Given the description of an element on the screen output the (x, y) to click on. 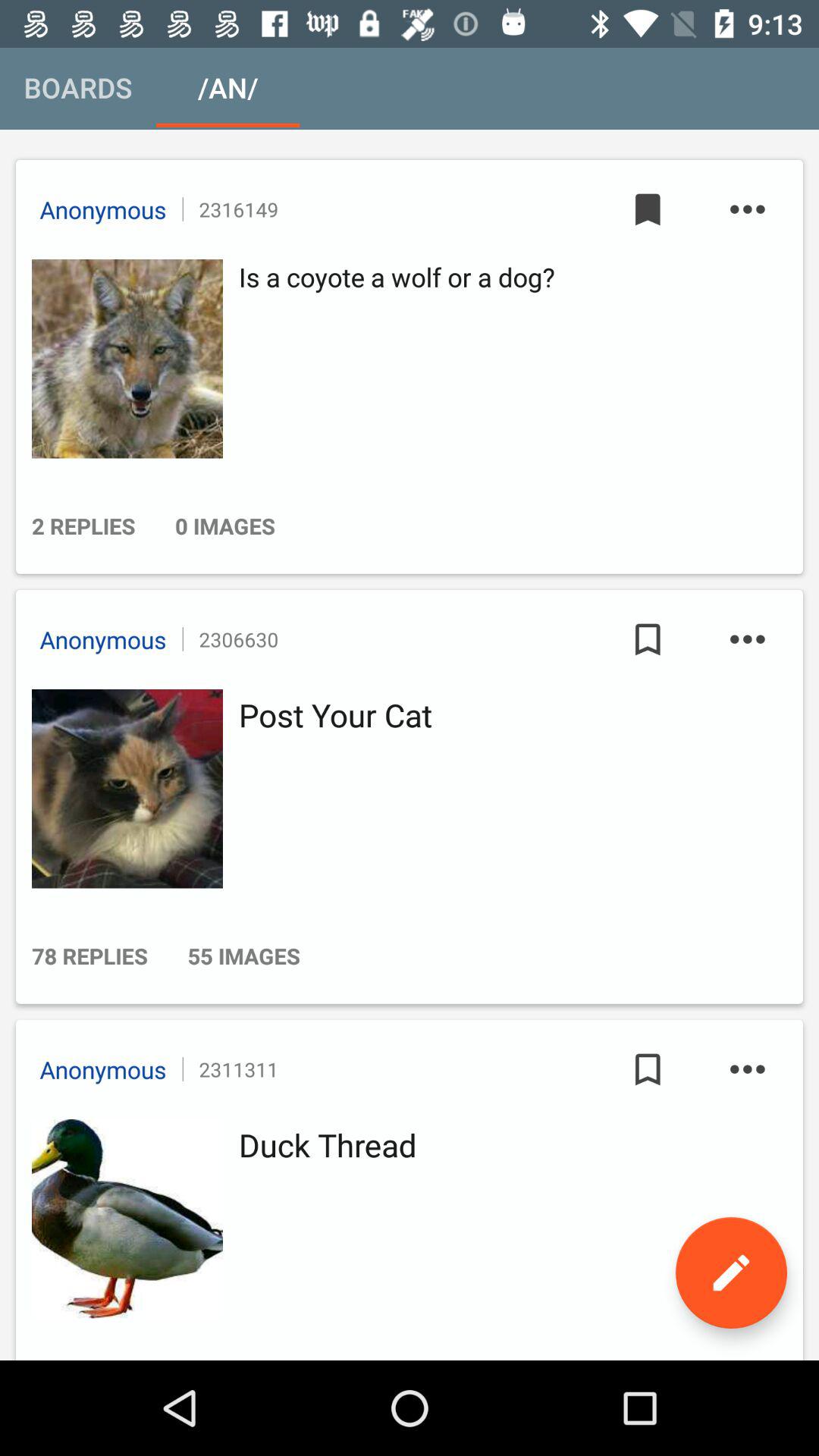
view image (122, 358)
